Given the description of an element on the screen output the (x, y) to click on. 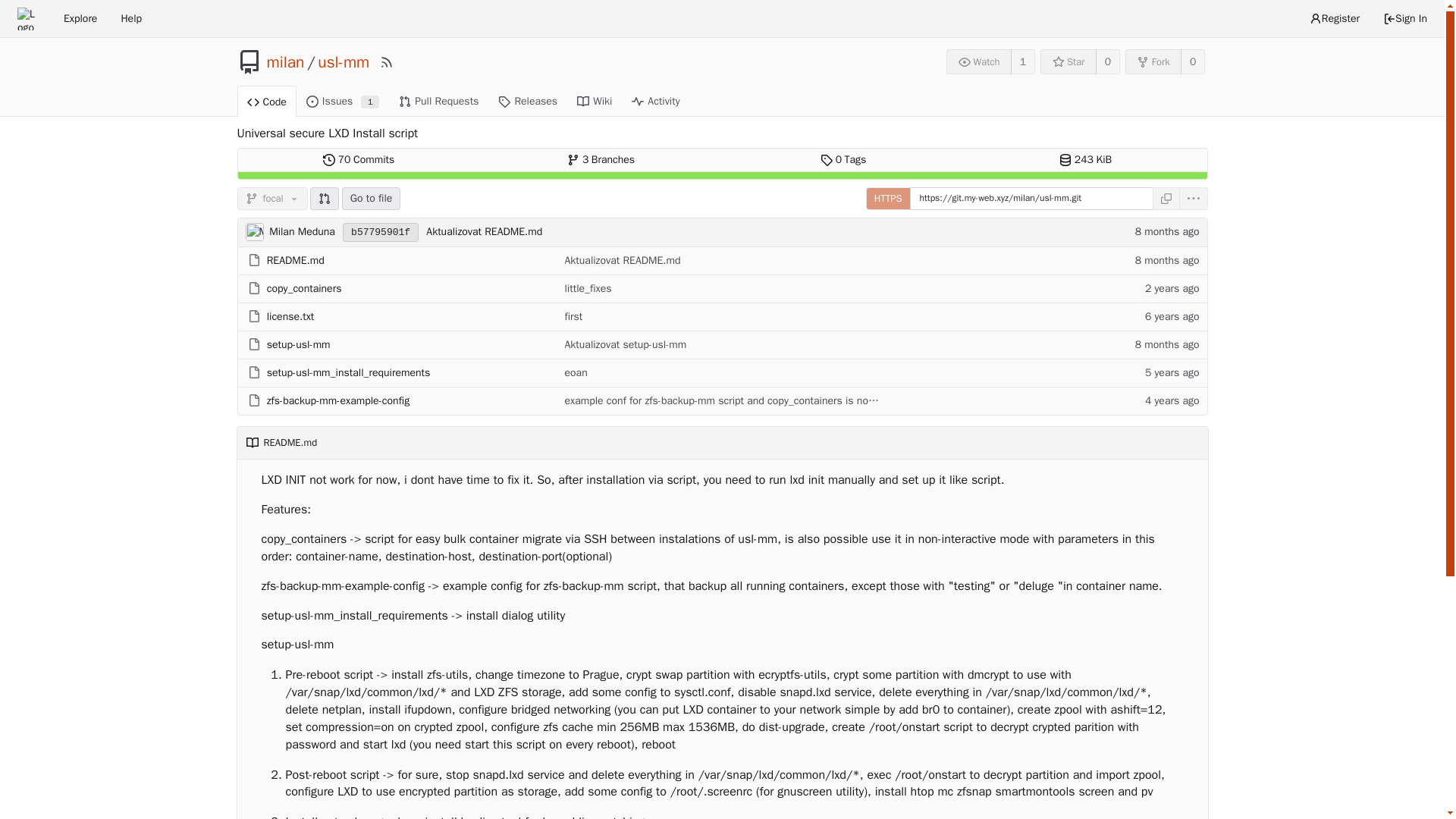
1 (1022, 61)
Activity (654, 101)
Sign In (1405, 17)
Go to file (371, 198)
Pull Requests (437, 101)
Watch (978, 61)
Explore (79, 17)
0 (342, 101)
0 (1192, 61)
